Given the description of an element on the screen output the (x, y) to click on. 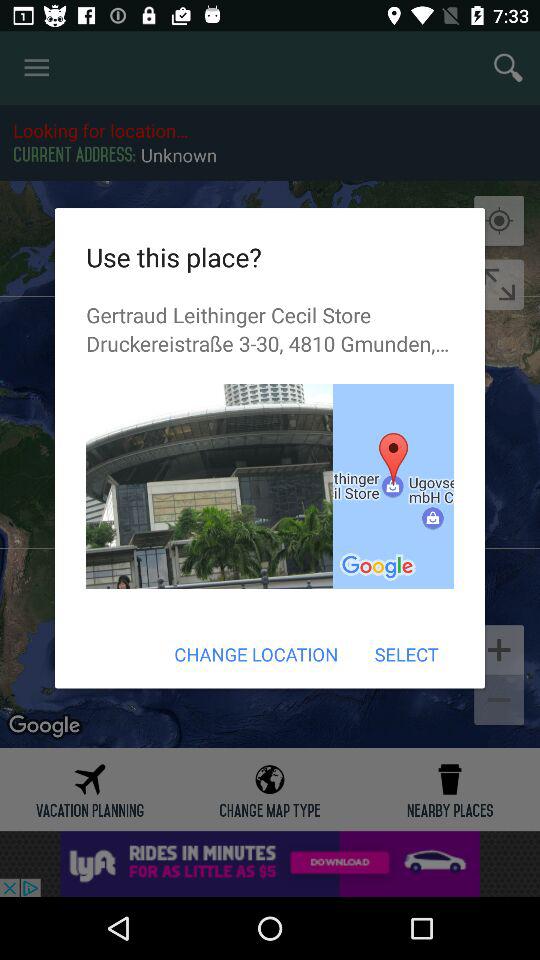
swipe to the select (406, 654)
